Given the description of an element on the screen output the (x, y) to click on. 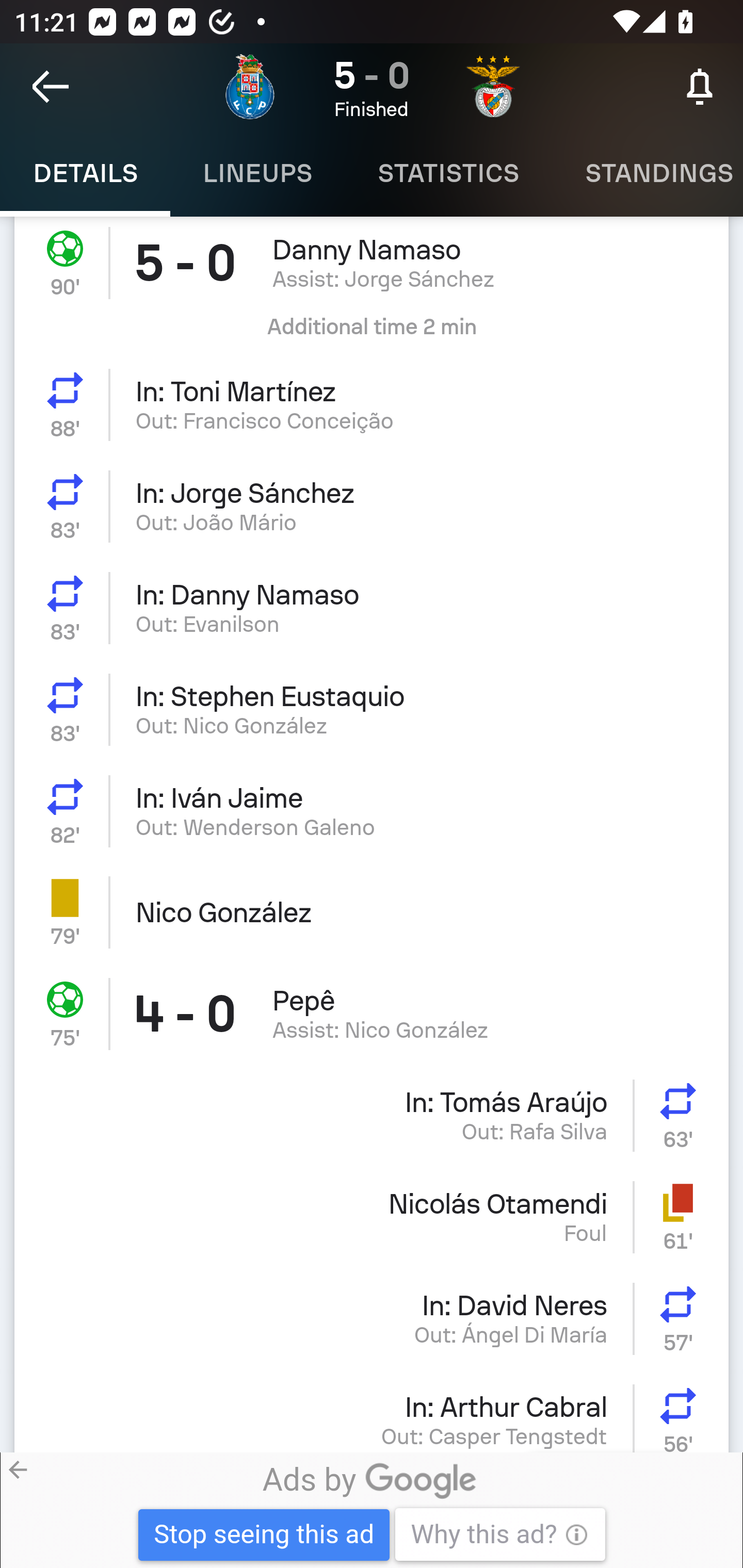
Navigate up (50, 86)
Lineups LINEUPS (257, 173)
Statistics STATISTICS (448, 173)
Standings STANDINGS (647, 173)
Additional time 2 min (371, 333)
Substitution In: Jorge Sánchez 83' Out: João Mário (371, 505)
Substitution In: Danny Namaso 83' Out: Evanilson (371, 607)
Yellow card 79' Nico González (371, 912)
Goal 75'  4  -  0  Pepê Assist: Nico González (371, 1013)
In: Tomás Araújo Out: Rafa Silva Substitution 63' (371, 1115)
Nicolás Otamendi Foul Yellow-red 61' (371, 1217)
